Given the description of an element on the screen output the (x, y) to click on. 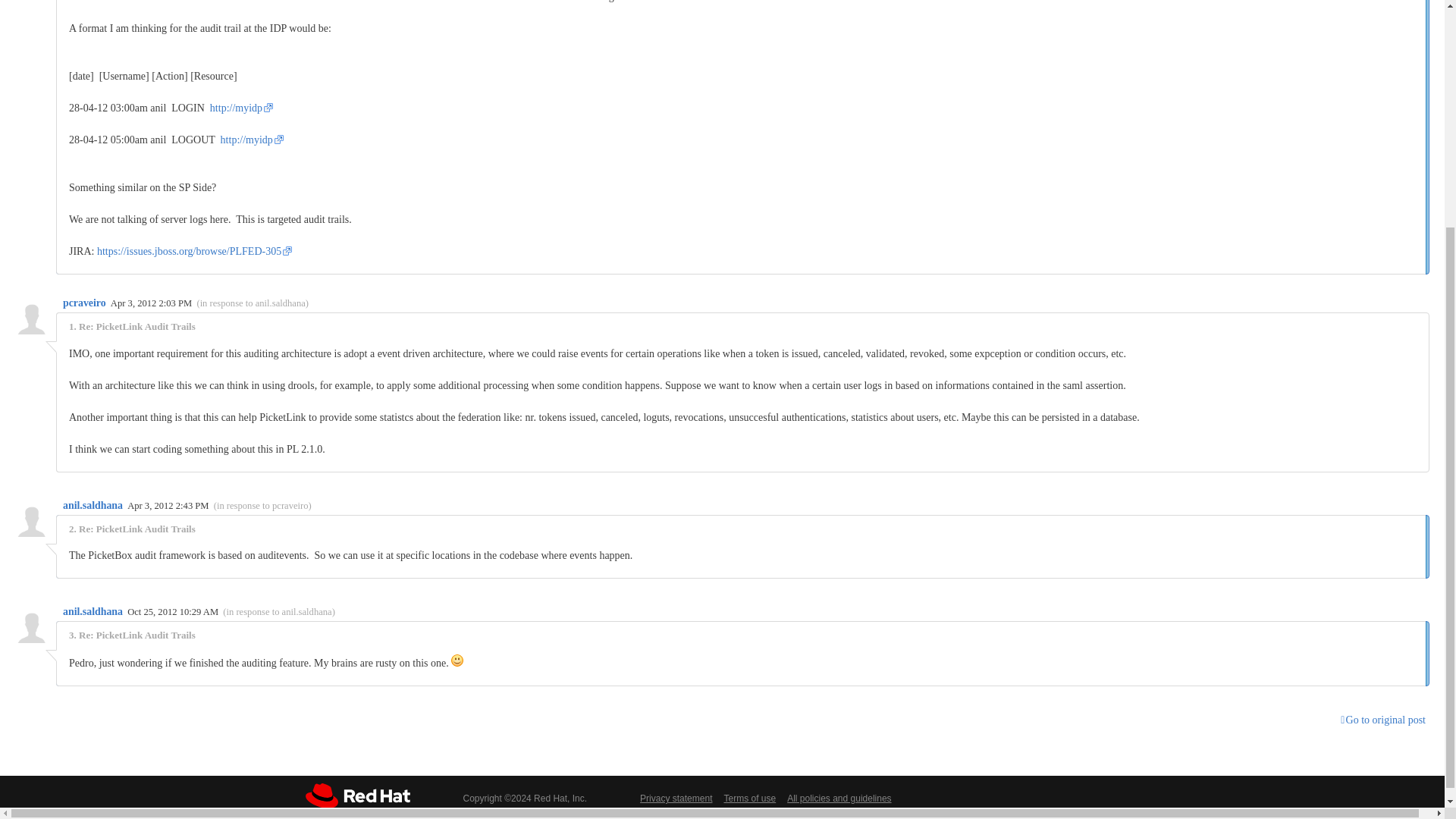
Red Hat (356, 795)
Go to message (278, 611)
Go to message (262, 505)
pcraveiro (84, 302)
Re: PicketLink Audit Trails (136, 528)
Go to message (252, 303)
Re: PicketLink Audit Trails (136, 326)
in response to anil.saldhana (252, 303)
